Given the description of an element on the screen output the (x, y) to click on. 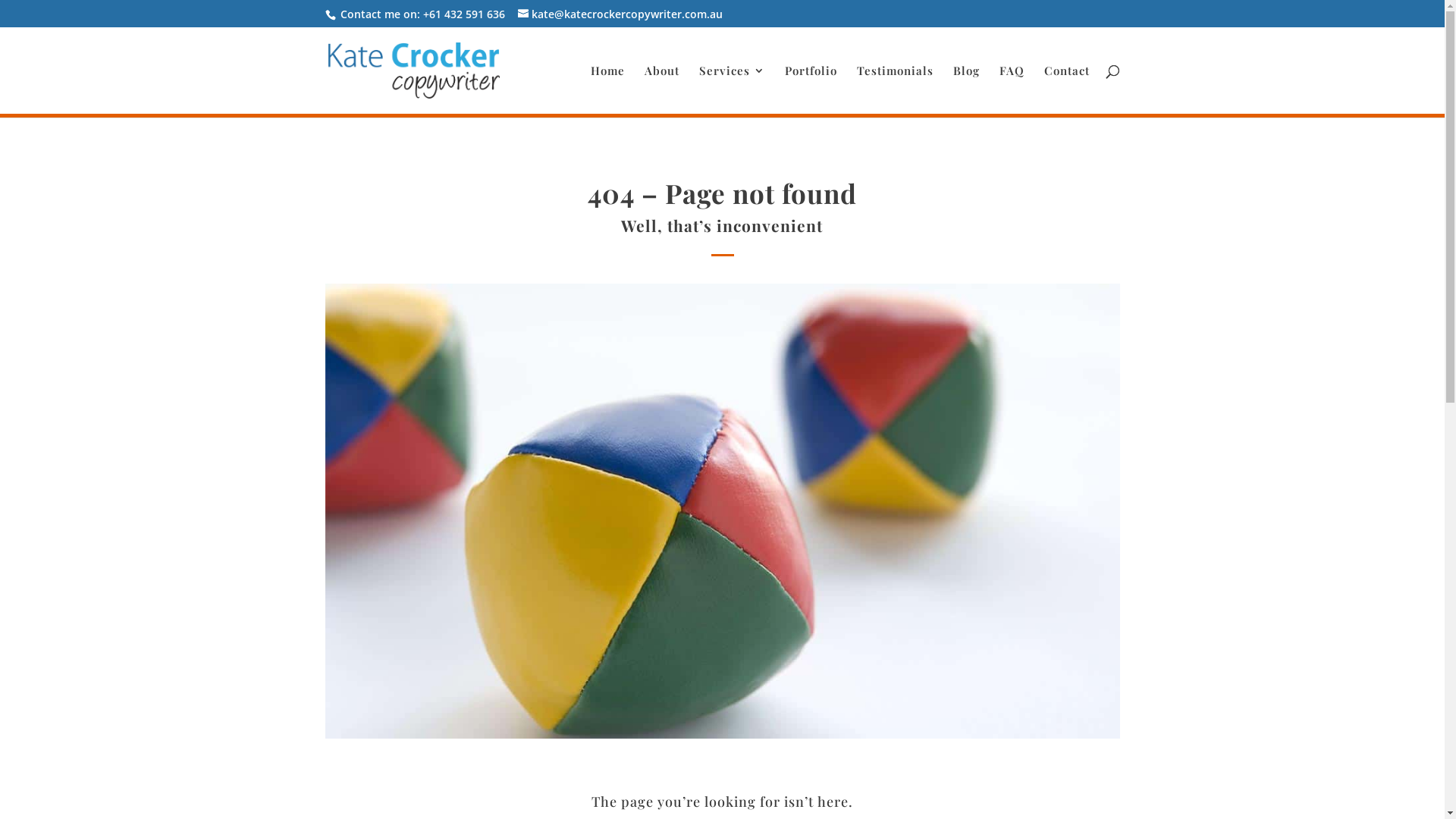
+61 432 591 636 Element type: text (464, 13)
About Element type: text (661, 89)
kate@katecrockercopywriter.com.au Element type: text (619, 13)
Portfolio Element type: text (810, 89)
Contact Element type: text (1065, 89)
Home Element type: text (606, 89)
Services Element type: text (732, 89)
Blog Element type: text (965, 89)
Testimonials Element type: text (894, 89)
FAQ Element type: text (1011, 89)
